Given the description of an element on the screen output the (x, y) to click on. 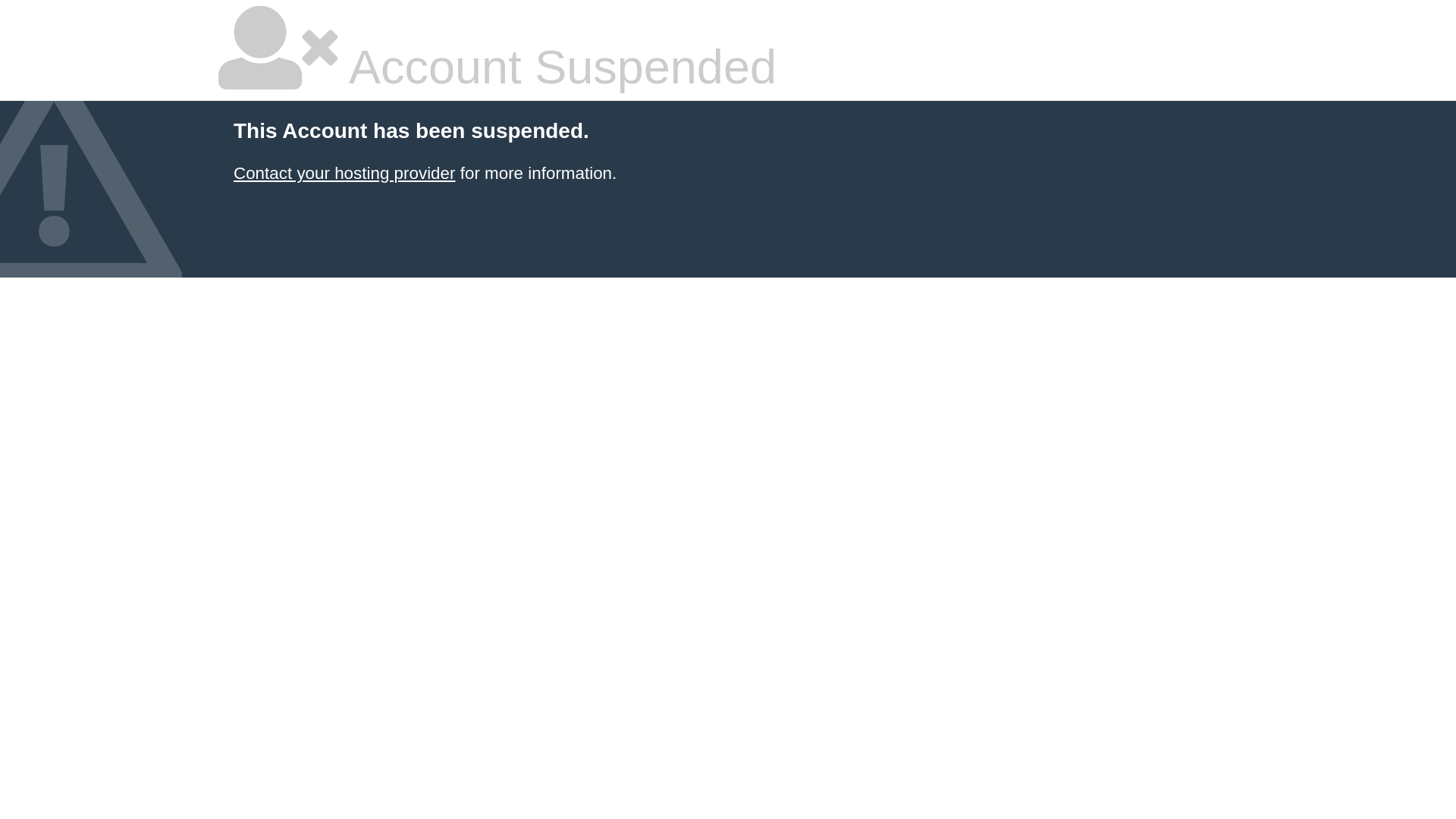
Contact your hosting provider Element type: text (344, 172)
